Given the description of an element on the screen output the (x, y) to click on. 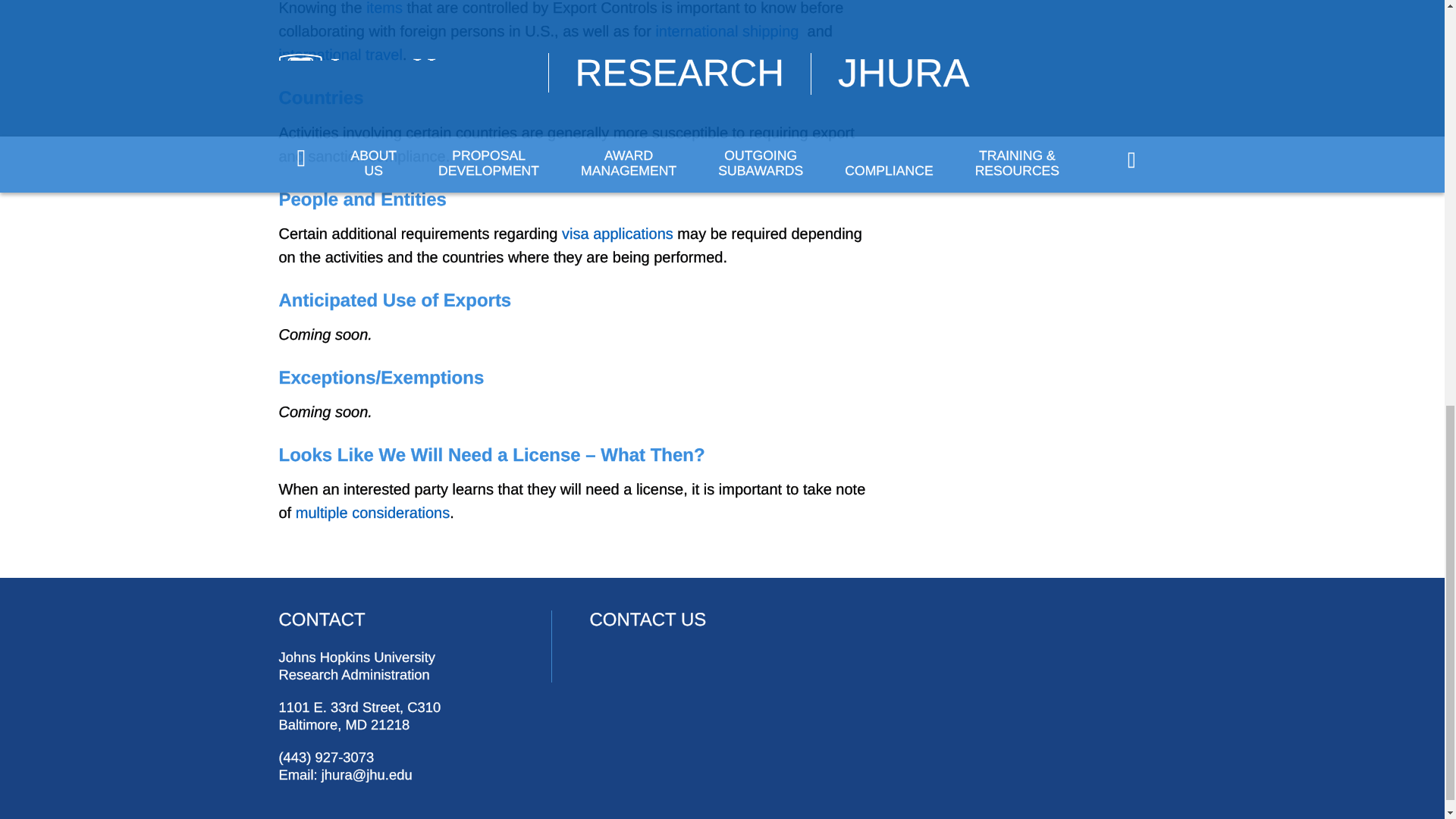
Send email (366, 774)
